Given the description of an element on the screen output the (x, y) to click on. 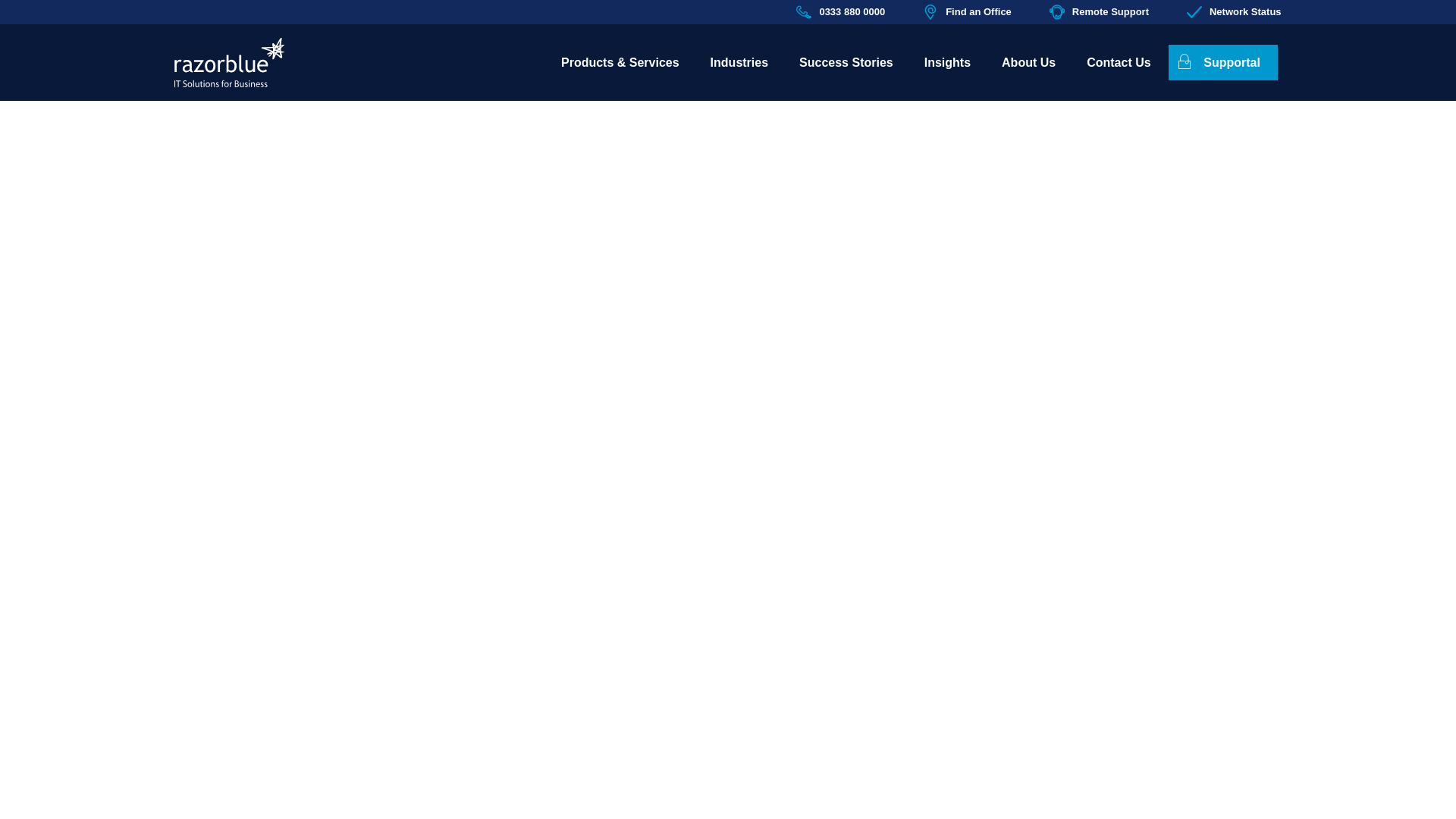
Find an Office (967, 12)
Remote Support (1098, 12)
Network Status (1233, 12)
0333 880 0000 (840, 12)
